Given the description of an element on the screen output the (x, y) to click on. 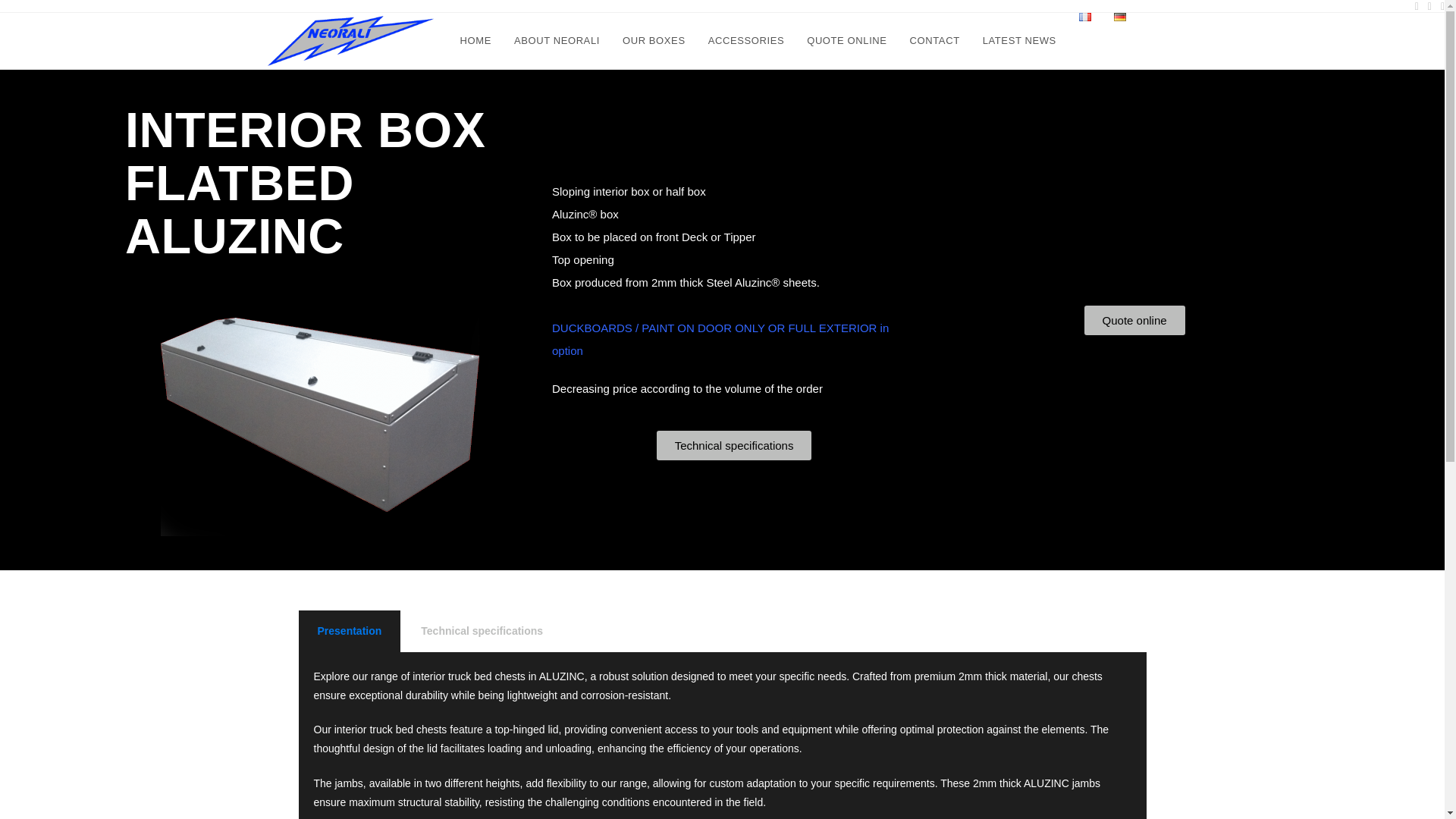
HOME (475, 40)
LATEST NEWS (1019, 40)
Contact (1037, 801)
ACCESSORIES (746, 40)
About Neorali (812, 801)
ABOUT NEORALI (556, 40)
Quote online (985, 801)
Legal notices (1150, 801)
CONTACT (934, 40)
Home (762, 801)
Quote online (1134, 319)
Technical specifications (734, 445)
OUR BOXES (654, 40)
Latest News (1088, 801)
QUOTE ONLINE (846, 40)
